Given the description of an element on the screen output the (x, y) to click on. 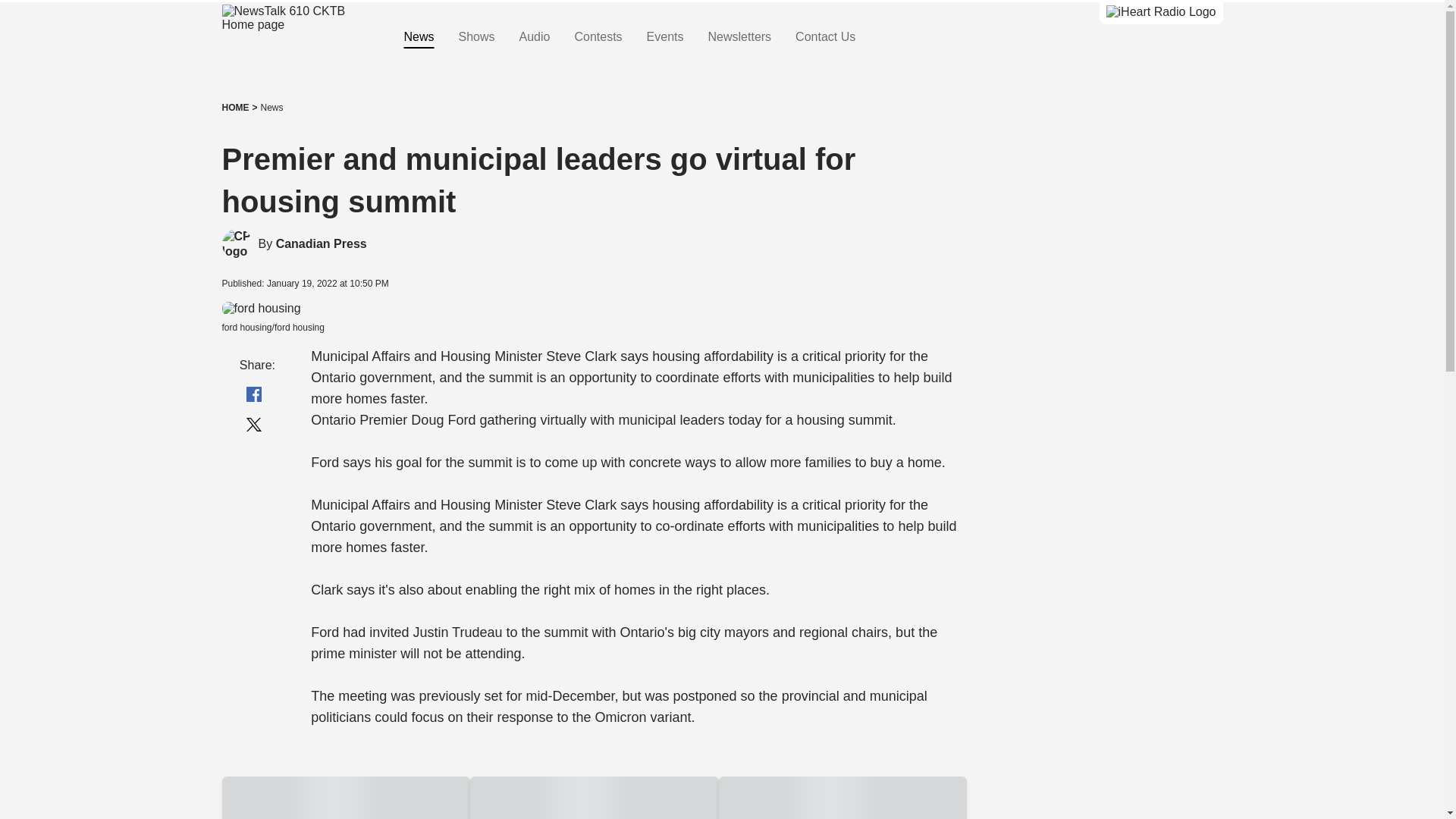
HOME (234, 107)
Contact Us (825, 37)
Canadian Press (236, 244)
Canadian Press (321, 243)
News (271, 107)
Newsletters (739, 37)
Canadian Press (321, 243)
Contests (597, 37)
